Given the description of an element on the screen output the (x, y) to click on. 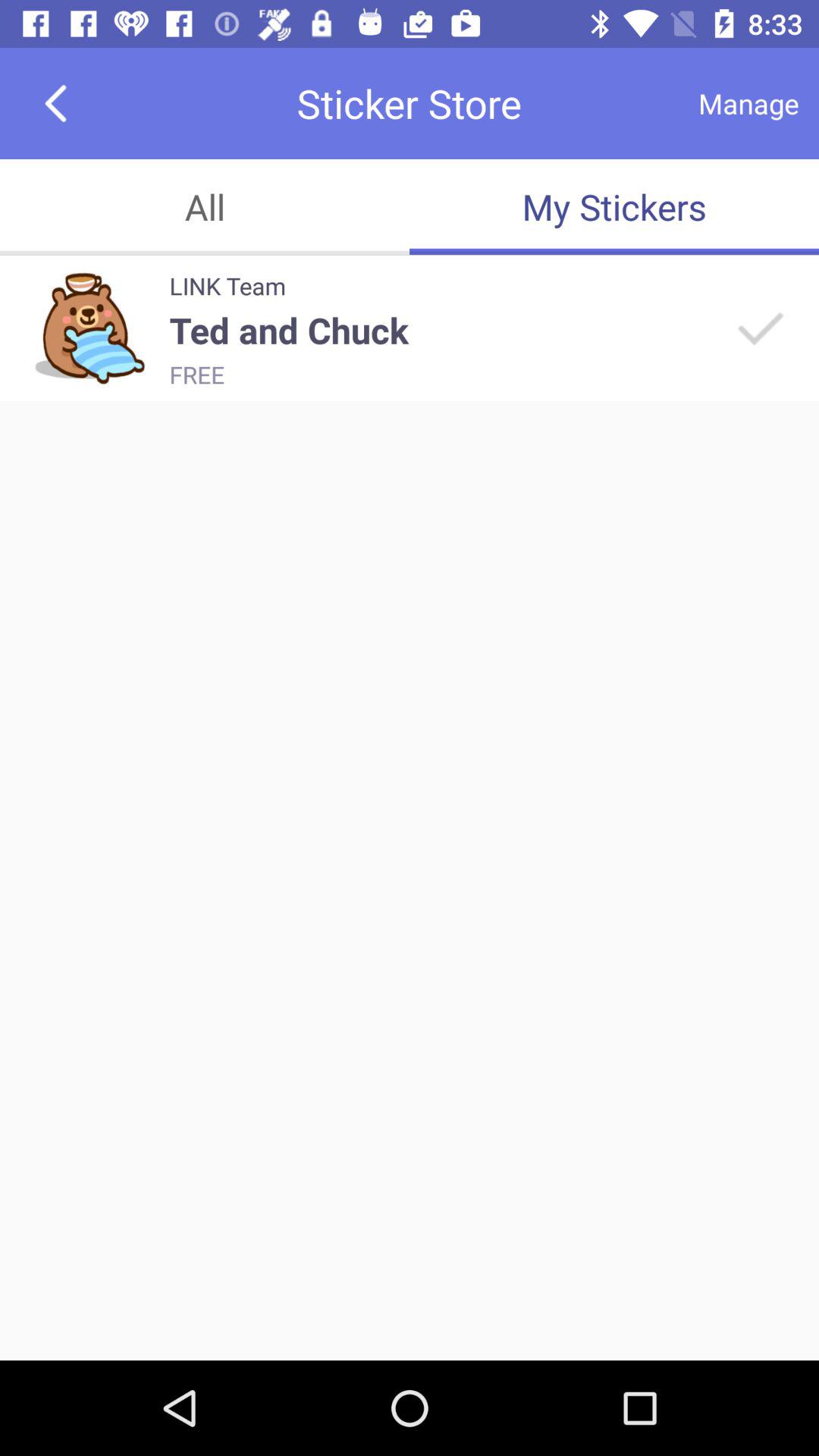
launch the icon next to sticker store item (748, 103)
